Given the description of an element on the screen output the (x, y) to click on. 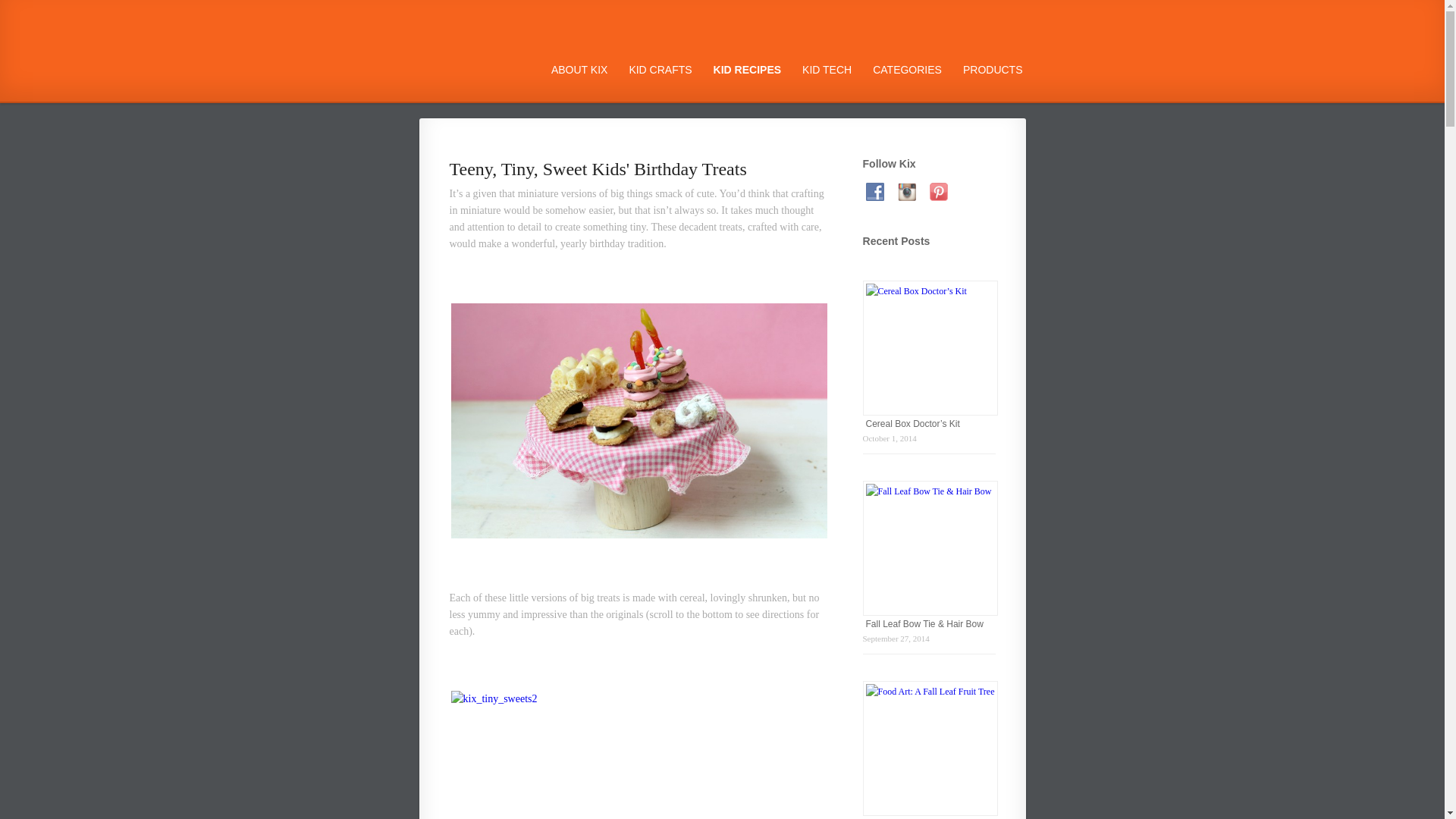
Follow Us on Pinterest (938, 191)
PRODUCTS (992, 69)
Food Art: A Fall Leaf Fruit Tree (927, 818)
KID CRAFTS (660, 69)
CATEGORIES (906, 69)
KID TECH (826, 69)
ABOUT KIX (579, 69)
Go to Kix Cereal home (473, 65)
Follow Us on Facebook (874, 191)
KID RECIPES (747, 69)
Follow Us on Instagram (906, 191)
